Given the description of an element on the screen output the (x, y) to click on. 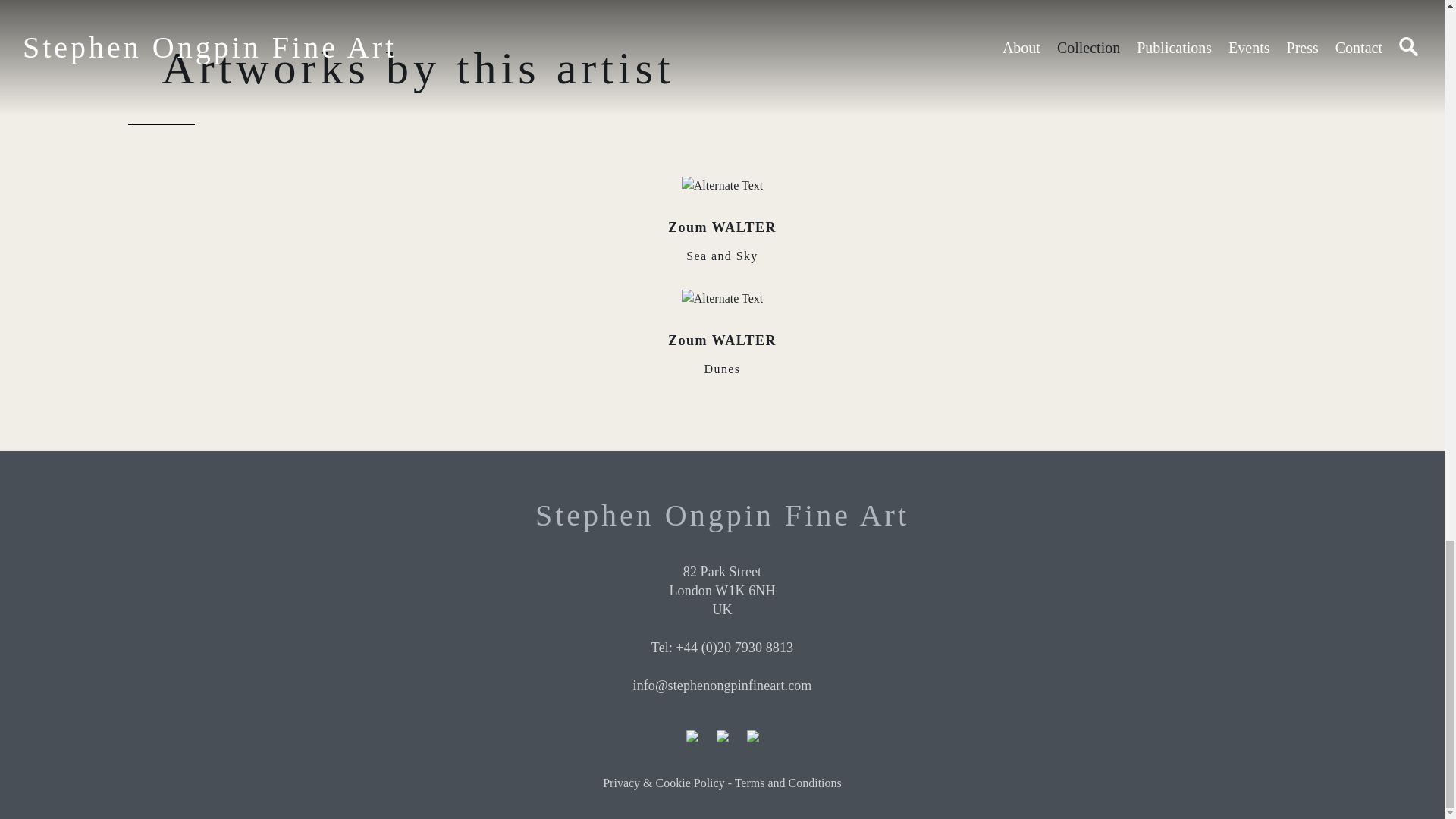
Terms and Conditions (722, 344)
